Given the description of an element on the screen output the (x, y) to click on. 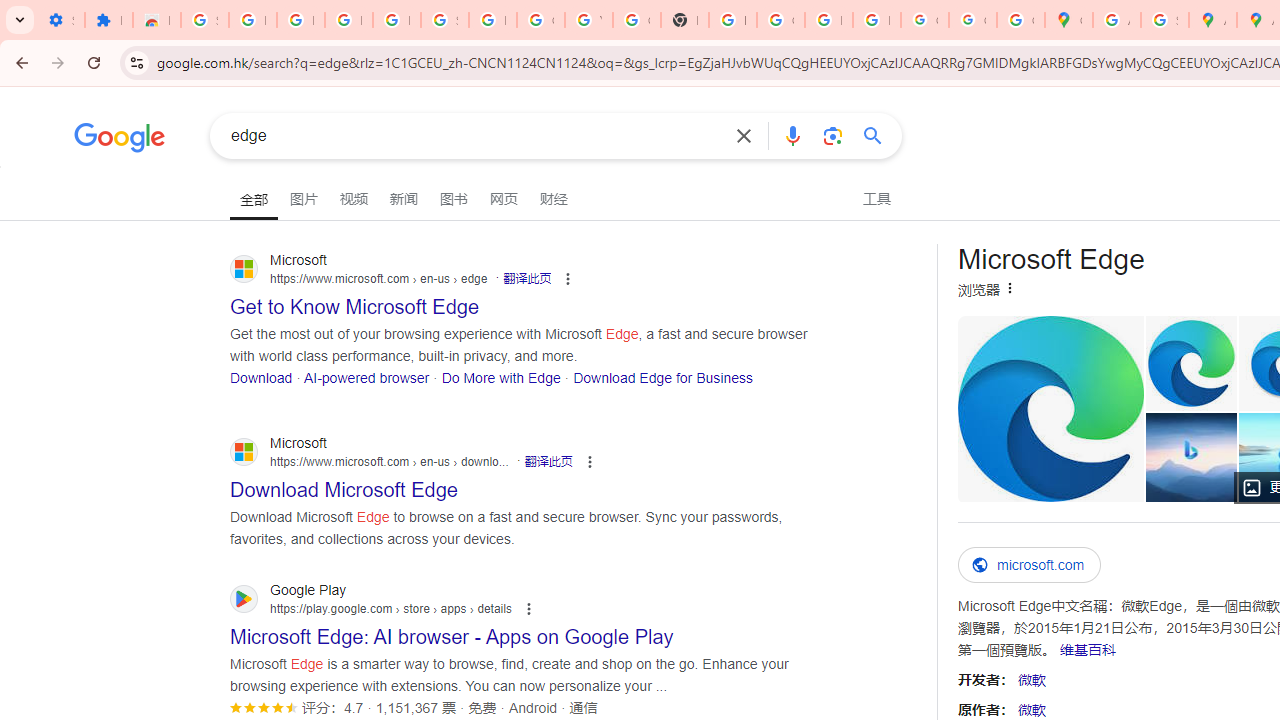
Learn how to find your photos - Google Photos Help (348, 20)
Reviews: Helix Fruit Jump Arcade Game (156, 20)
upload.wikimedia.org/wikipedia/commons/9/98/Micros... (1050, 408)
